Given the description of an element on the screen output the (x, y) to click on. 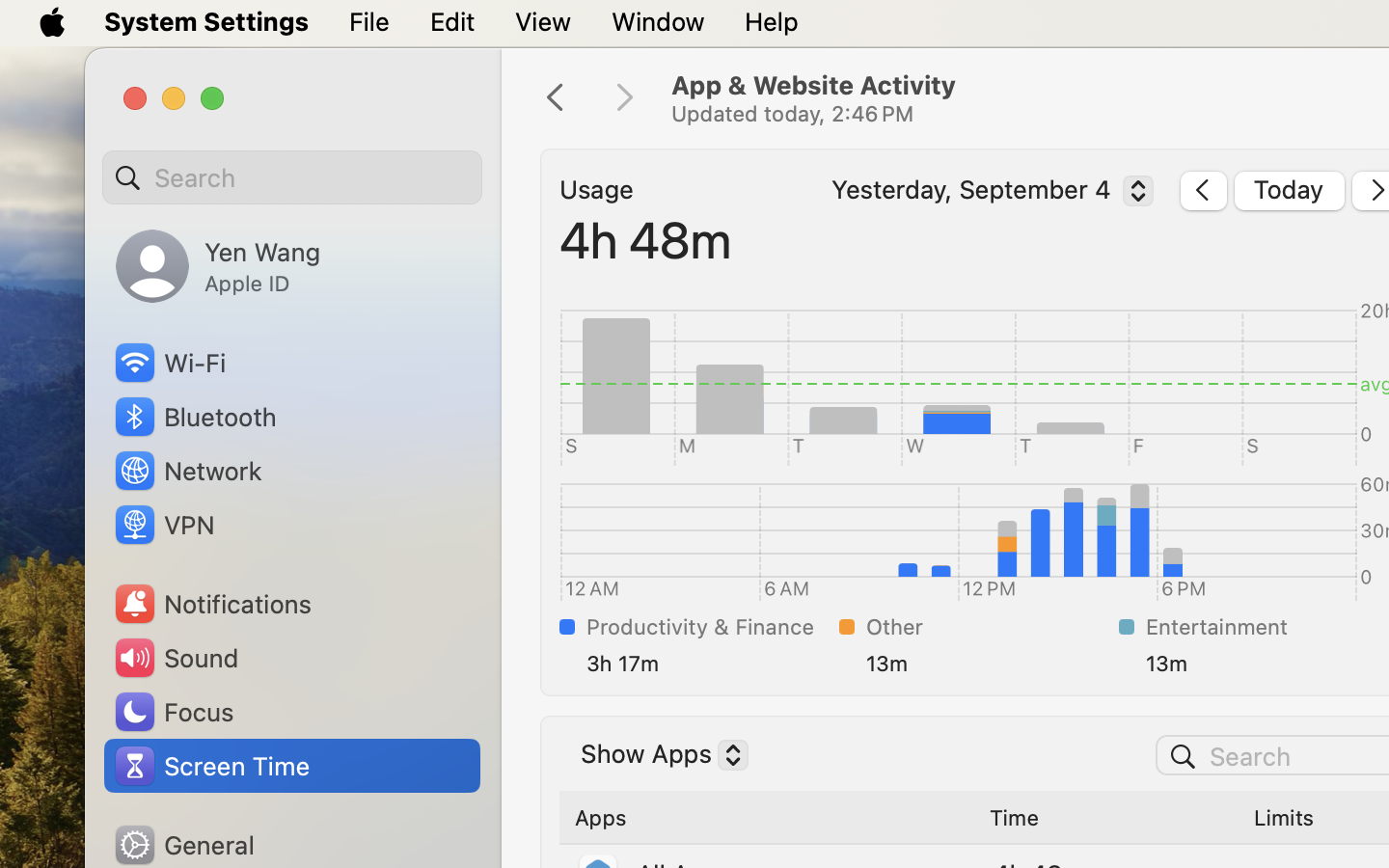
Bluetooth Element type: AXStaticText (194, 416)
Productivity & Finance Element type: AXStaticText (708, 626)
Network Element type: AXStaticText (186, 470)
